Given the description of an element on the screen output the (x, y) to click on. 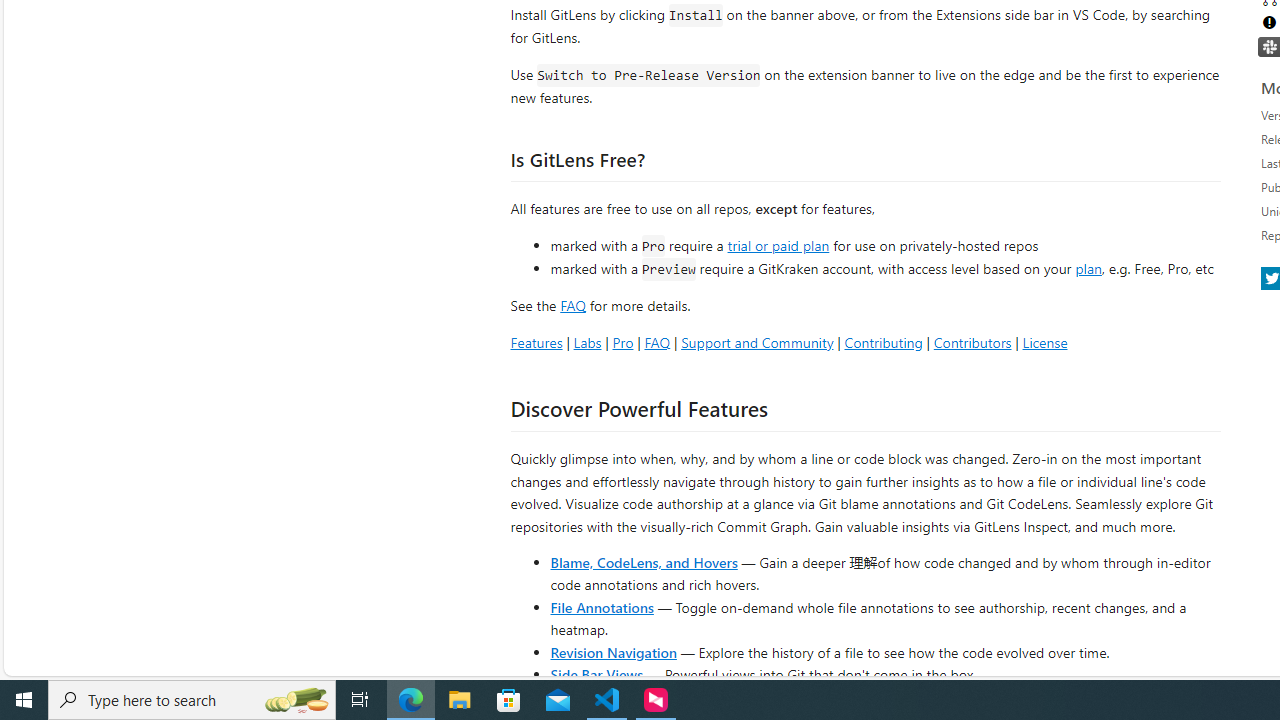
Type here to search (191, 699)
Visual Studio Code - 1 running window (607, 699)
Search highlights icon opens search home window (295, 699)
Start (24, 699)
Microsoft Store (509, 699)
Task View (359, 699)
Microsoft Edge - 1 running window (411, 699)
File Explorer (460, 699)
